Given the description of an element on the screen output the (x, y) to click on. 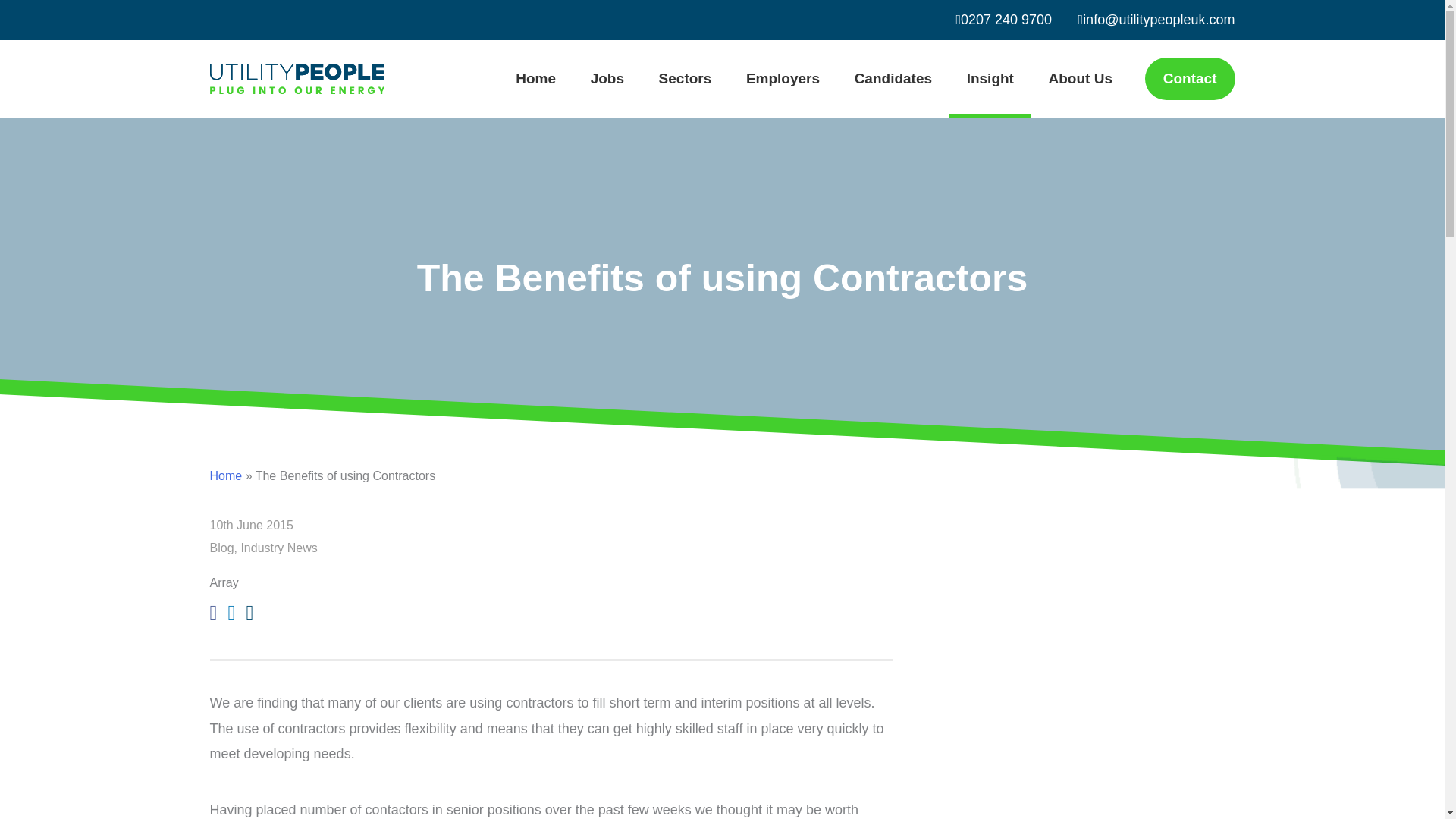
About Us (1079, 78)
10th June 2015 (250, 525)
Contact (1189, 78)
Candidates (893, 78)
Employers (783, 78)
Jobs (607, 78)
Home (225, 475)
Insight (989, 80)
Sectors (685, 78)
Home (534, 78)
0207 240 9700 (1003, 19)
